Given the description of an element on the screen output the (x, y) to click on. 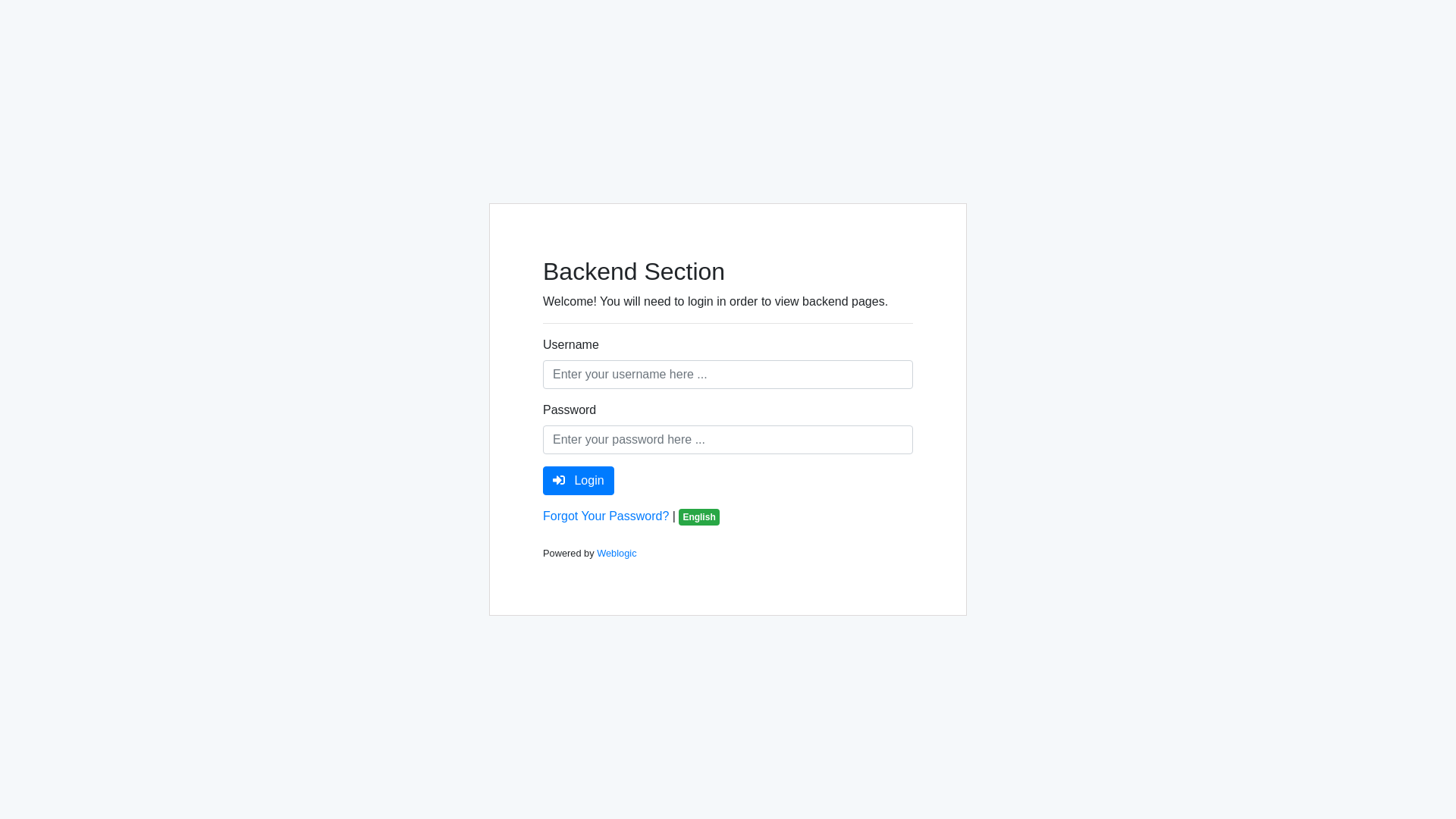
Login Element type: text (578, 480)
Weblogic Element type: text (616, 552)
Forgot Your Password? Element type: text (605, 515)
